Given the description of an element on the screen output the (x, y) to click on. 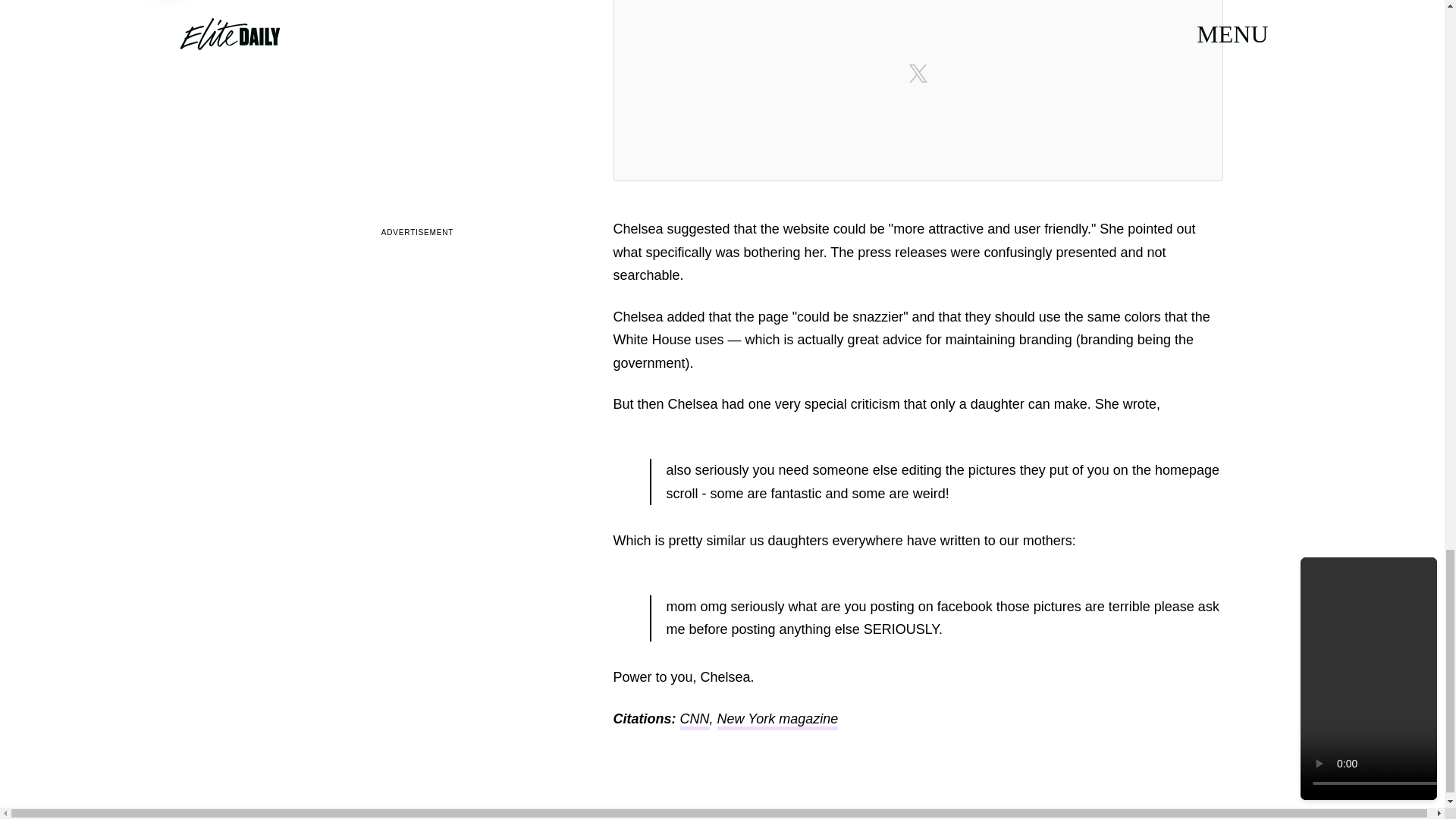
New York magazine (777, 720)
CNN (694, 720)
